Given the description of an element on the screen output the (x, y) to click on. 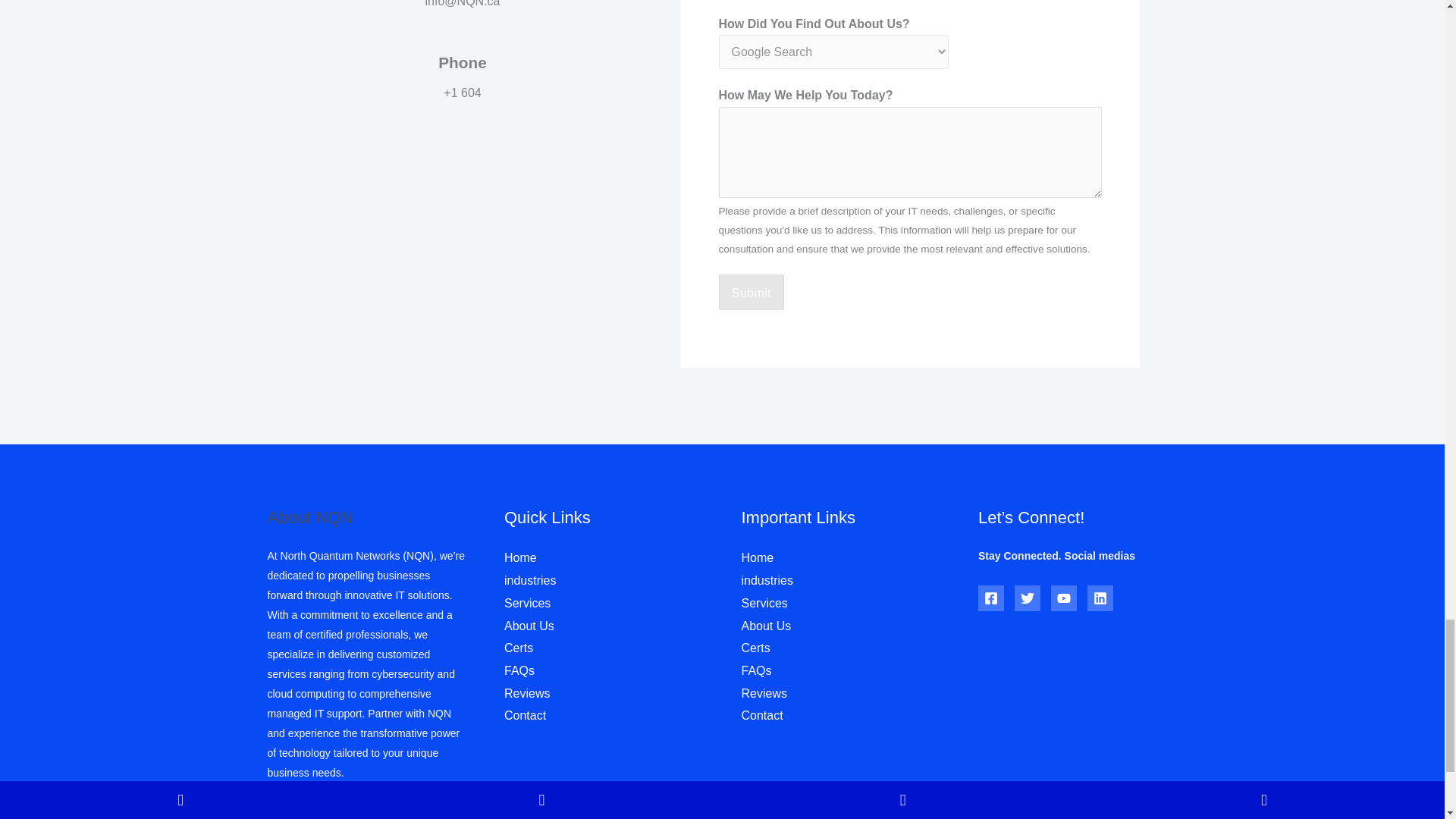
Services (526, 603)
Services (764, 603)
About Us (528, 625)
Certs (755, 647)
About Us (766, 625)
Home (520, 557)
Home (757, 557)
Reviews (526, 693)
industries (767, 580)
Submit (751, 292)
